Given the description of an element on the screen output the (x, y) to click on. 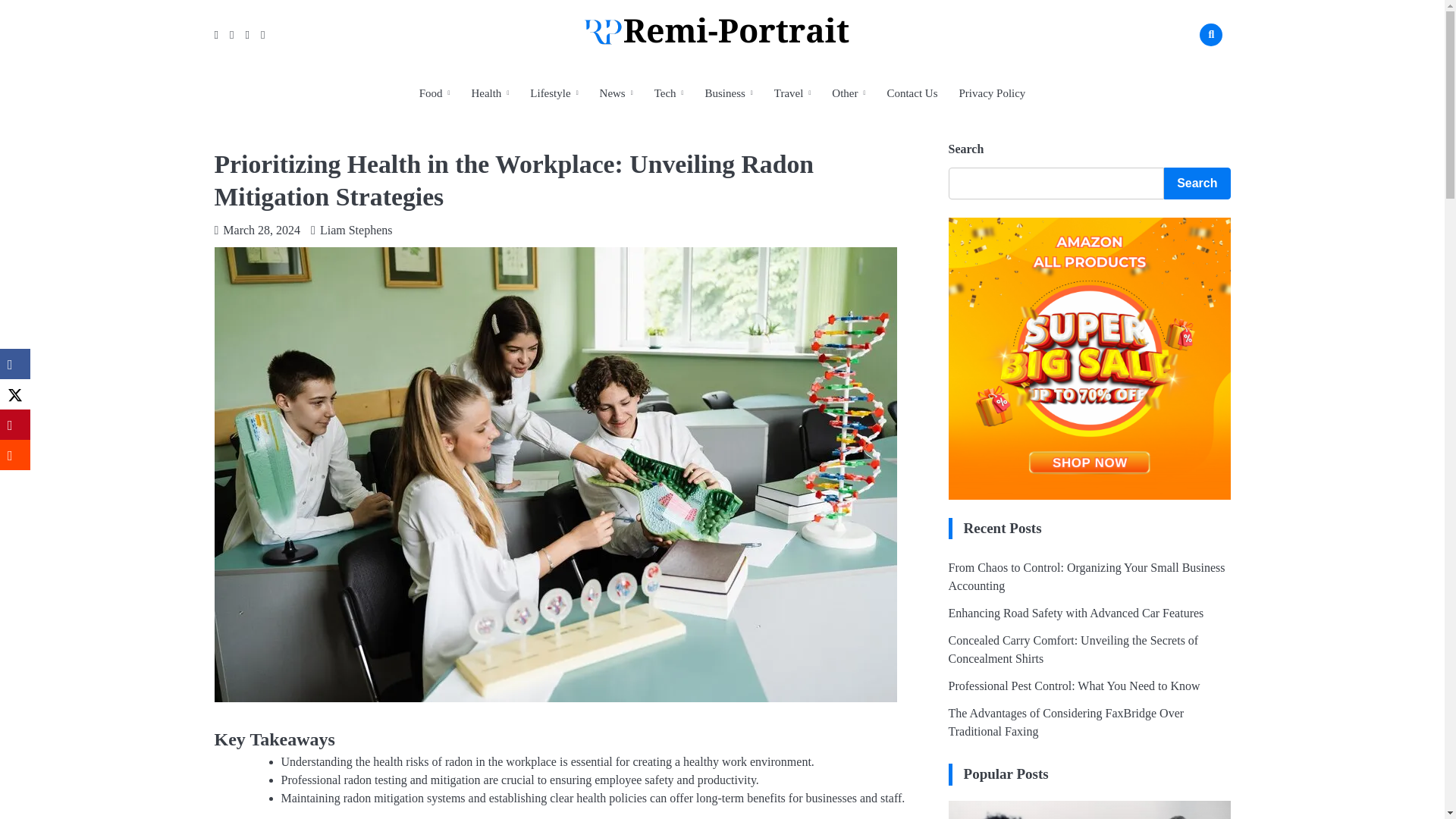
Business (728, 92)
Tech (668, 92)
Food (435, 92)
Health (489, 92)
News (616, 92)
Lifestyle (553, 92)
Search (1187, 69)
Travel (792, 92)
